Given the description of an element on the screen output the (x, y) to click on. 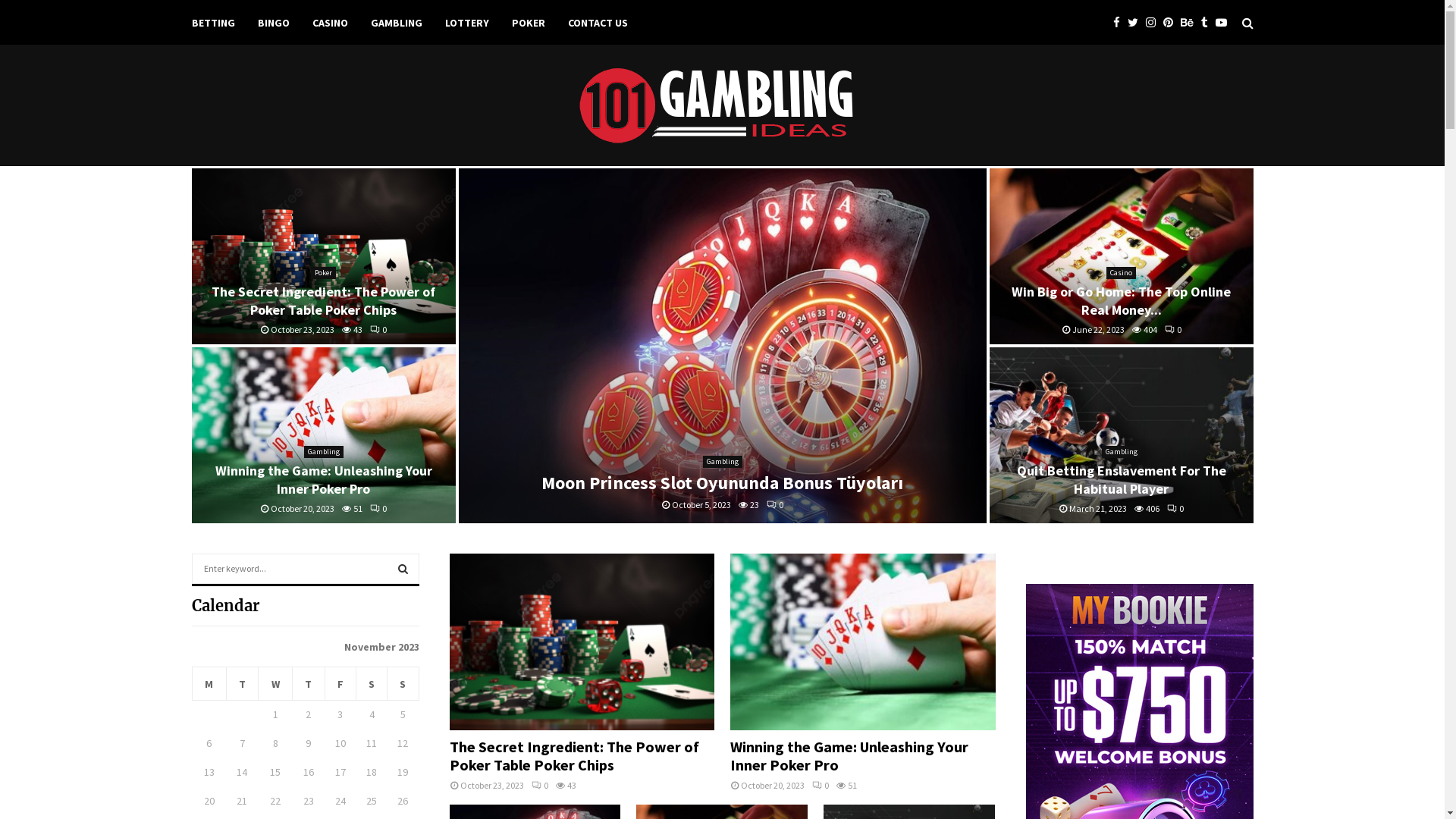
Facebook Element type: hover (1120, 22)
Win Big or Go Home: The Top Online Real Money... Element type: text (1120, 300)
0 Element type: text (538, 784)
0 Element type: text (774, 504)
The Secret Ingredient: The Power of Poker Table Poker Chips Element type: text (573, 755)
Casino Element type: text (1120, 272)
Quit Betting Enslavement For The Habitual Player Element type: text (1120, 479)
Instagram Element type: hover (1153, 22)
0 Element type: text (1172, 329)
The Secret Ingredient: The Power of Poker Table Poker Chips Element type: text (323, 300)
GAMBLING Element type: text (395, 22)
The Secret Ingredient: The Power of Poker Table Poker Chips Element type: hover (323, 256)
0 Element type: text (378, 508)
Winning the Game: Unleashing Your Inner Poker Pro Element type: text (849, 755)
Winning the Game: Unleashing Your Inner Poker Pro Element type: text (323, 479)
LOTTERY Element type: text (466, 22)
Tumblr Element type: hover (1208, 22)
CONTACT US Element type: text (597, 22)
SEARCH Element type: text (402, 568)
Gambling Element type: text (1120, 451)
Behance Element type: hover (1189, 22)
BINGO Element type: text (273, 22)
Twitter Element type: hover (1135, 22)
Youtube Element type: hover (1223, 22)
The Secret Ingredient: The Power of Poker Table Poker Chips Element type: hover (581, 641)
Gambling Element type: text (322, 451)
Quit Betting Enslavement For The Habitual Player Element type: hover (1120, 435)
Pinterest Element type: hover (1171, 22)
BETTING Element type: text (212, 22)
Poker Element type: text (322, 272)
POKER Element type: text (527, 22)
Gambling Element type: text (721, 461)
CASINO Element type: text (330, 22)
Winning the Game: Unleashing Your Inner Poker Pro Element type: hover (862, 641)
0 Element type: text (1175, 508)
0 Element type: text (820, 784)
Winning the Game: Unleashing Your Inner Poker Pro Element type: hover (323, 435)
0 Element type: text (378, 329)
